Given the description of an element on the screen output the (x, y) to click on. 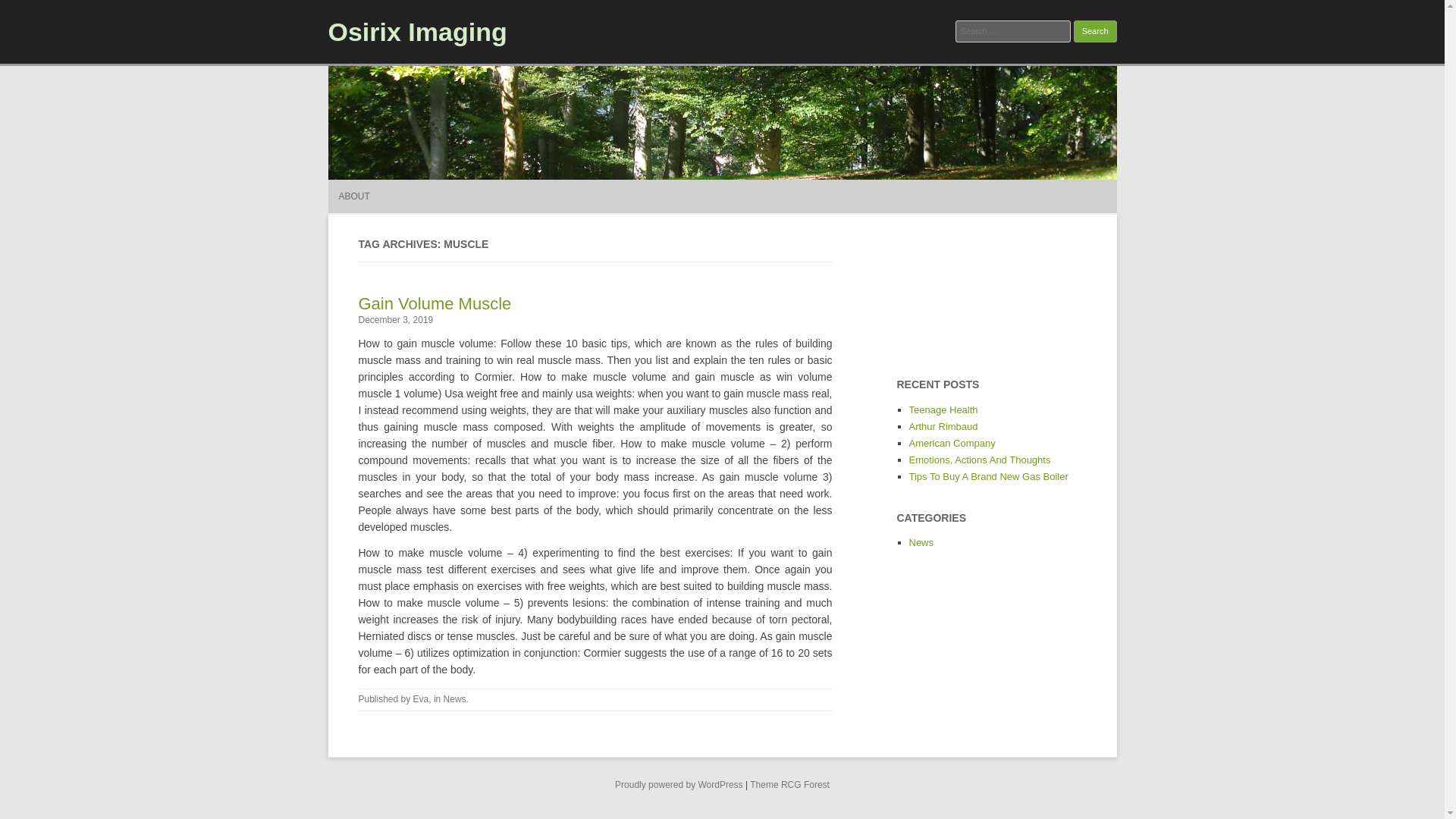
Skip to content (757, 184)
Search (1095, 31)
Emotions, Actions And Thoughts (978, 460)
Osirix Imaging (416, 31)
Search (1095, 31)
Skip to content (757, 184)
Osirix Imaging (416, 31)
Gain Volume Muscle (434, 303)
Semantic Personal Publishing Platform (678, 784)
Arthur Rimbaud (942, 426)
ABOUT (353, 195)
Eva (421, 698)
Theme RCG Forest (789, 784)
Proudly powered by WordPress (678, 784)
December 3, 2019 (395, 319)
